Given the description of an element on the screen output the (x, y) to click on. 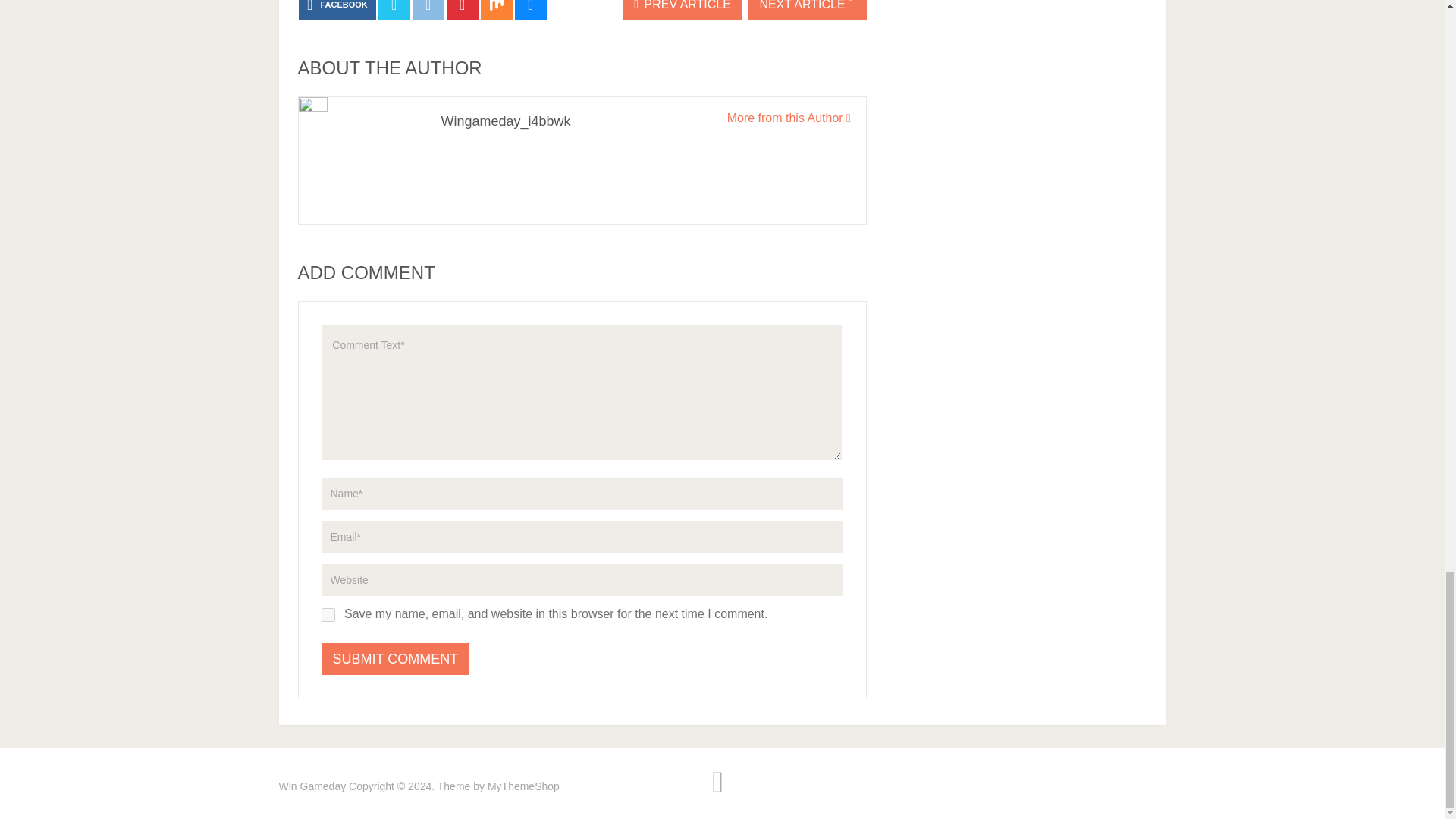
 What You Read to Win (312, 786)
yes (327, 614)
Submit Comment (395, 658)
